Given the description of an element on the screen output the (x, y) to click on. 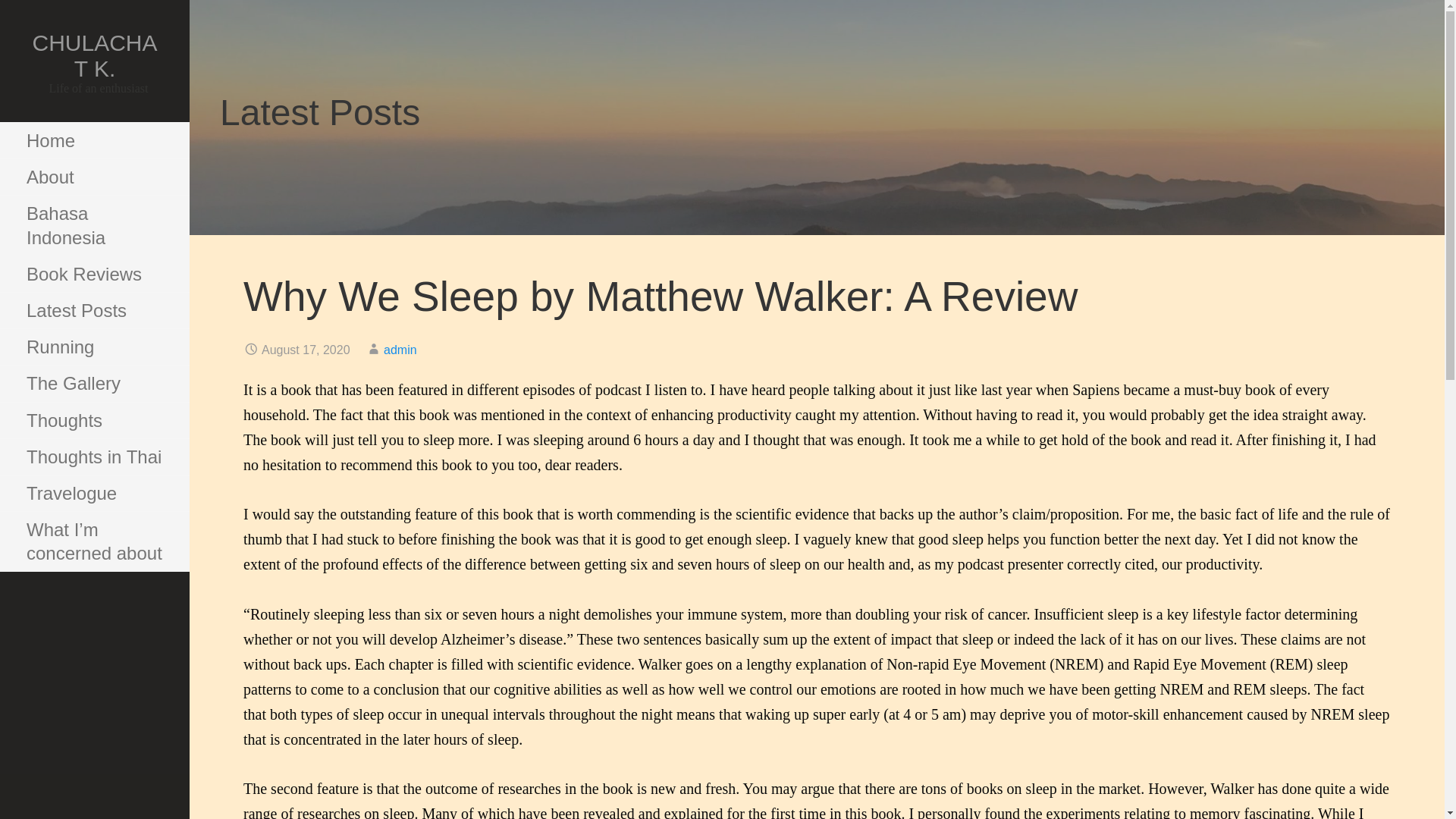
Running (94, 347)
About (94, 176)
Latest Posts (94, 310)
Book Reviews (94, 274)
Bahasa Indonesia (94, 225)
Thoughts (94, 420)
Thoughts in Thai (94, 456)
Home (94, 140)
Posts by admin (400, 349)
CHULACHAT K. (94, 55)
